Given the description of an element on the screen output the (x, y) to click on. 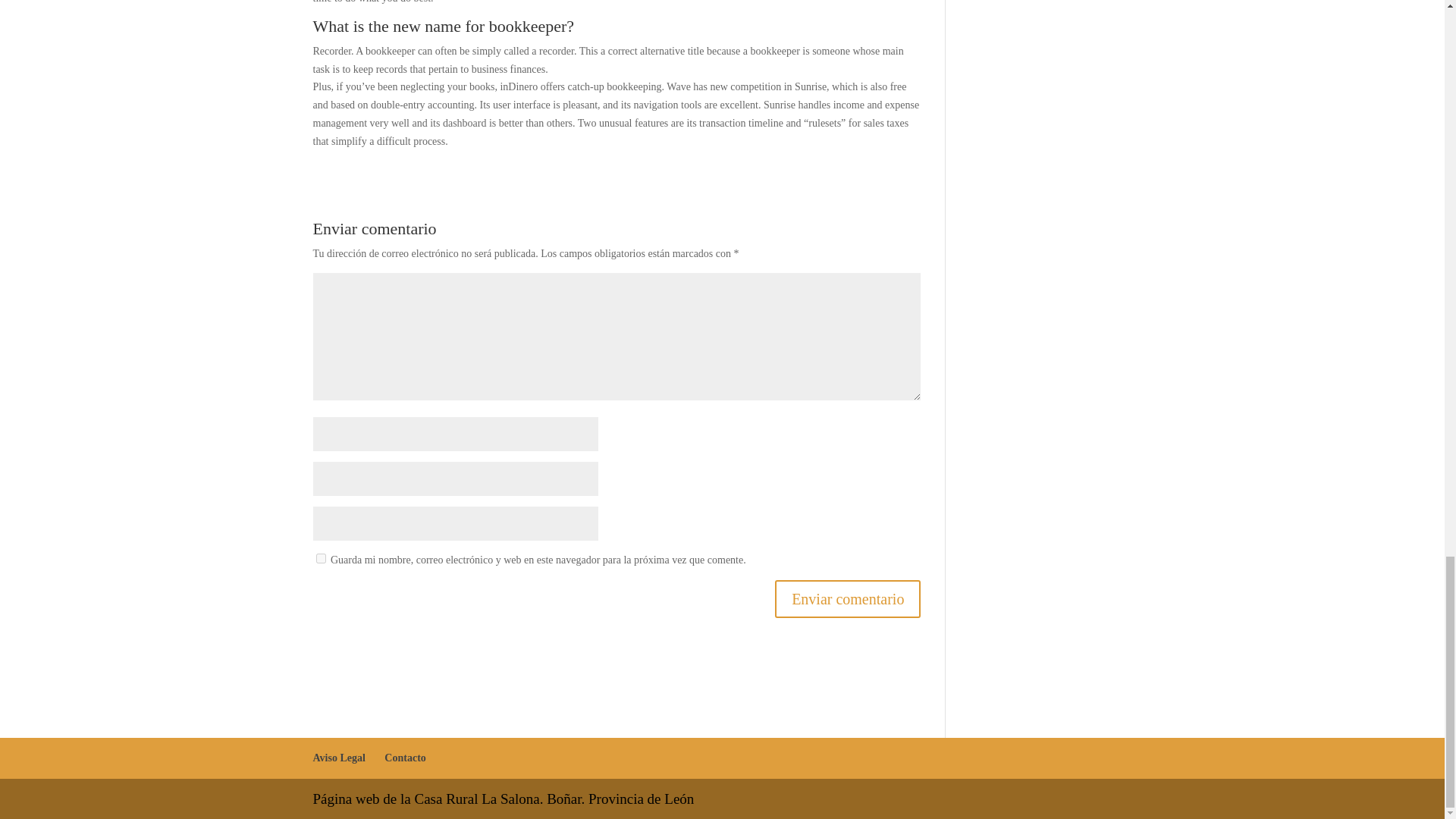
Enviar comentario (847, 598)
Enviar comentario (847, 598)
yes (319, 558)
